Given the description of an element on the screen output the (x, y) to click on. 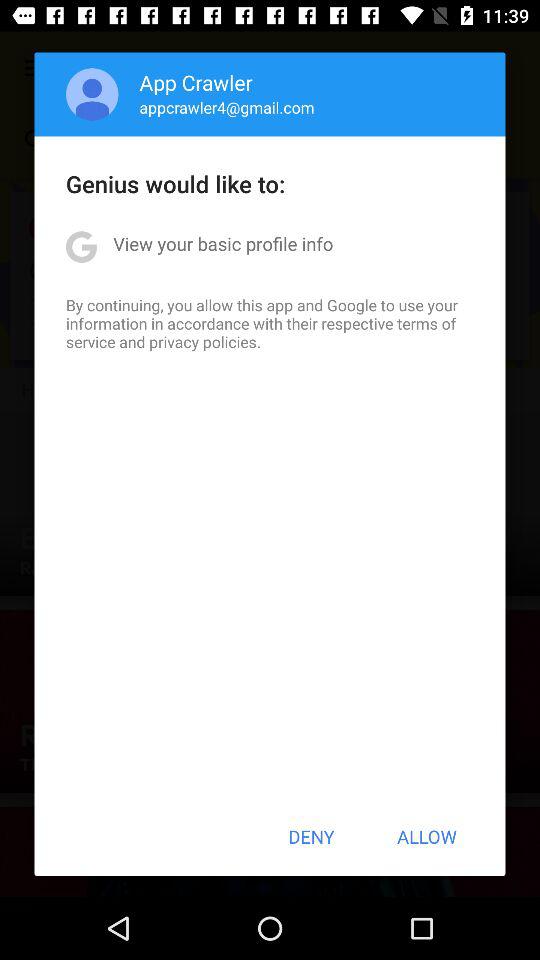
press the item below the app crawler app (226, 107)
